Given the description of an element on the screen output the (x, y) to click on. 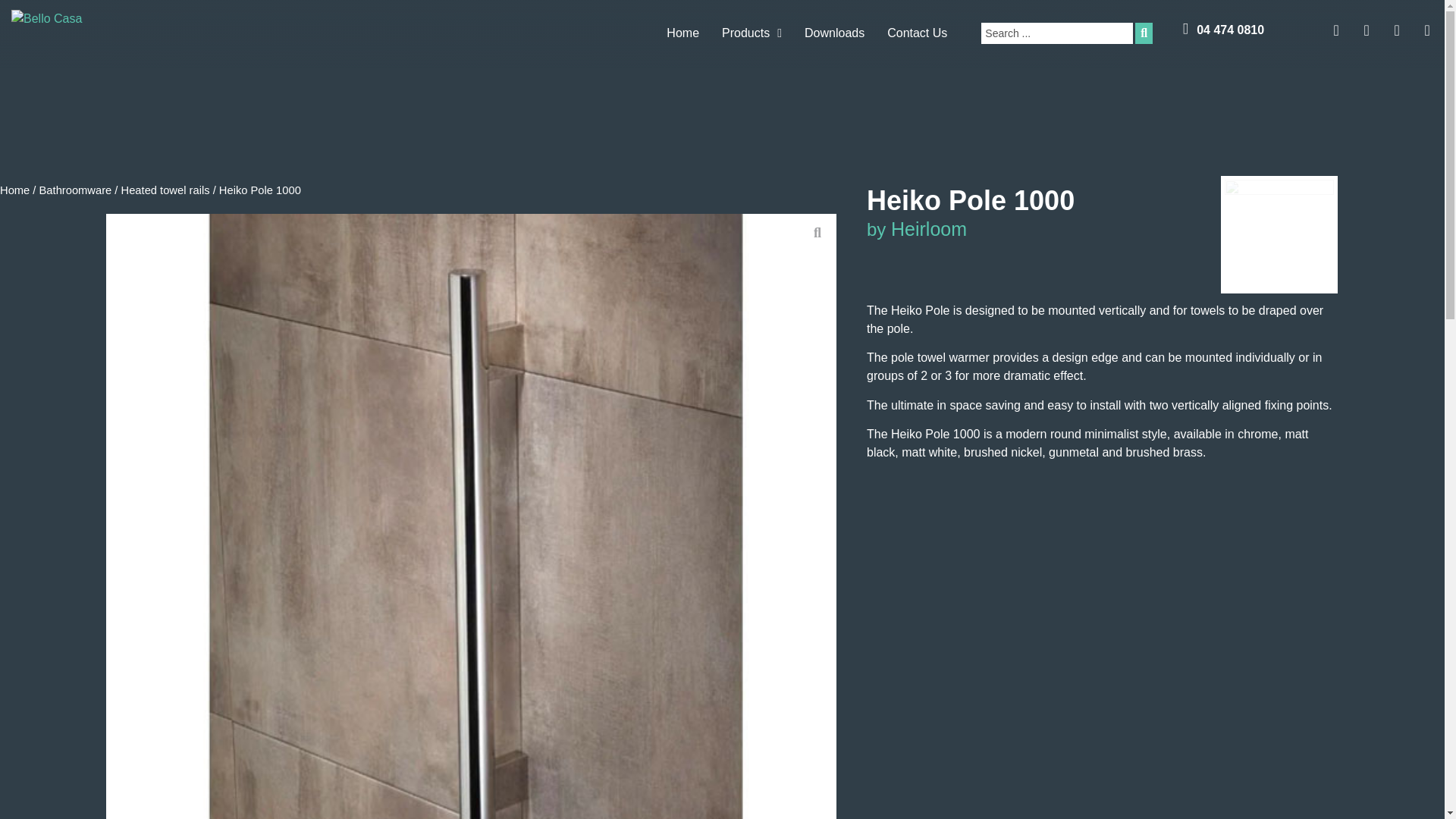
Downloads (834, 33)
Home (682, 33)
Products (751, 33)
Products (751, 33)
04 474 0810 (1229, 29)
Home (682, 33)
Contact Us (917, 33)
Downloads (834, 33)
Contact Us (917, 33)
